Given the description of an element on the screen output the (x, y) to click on. 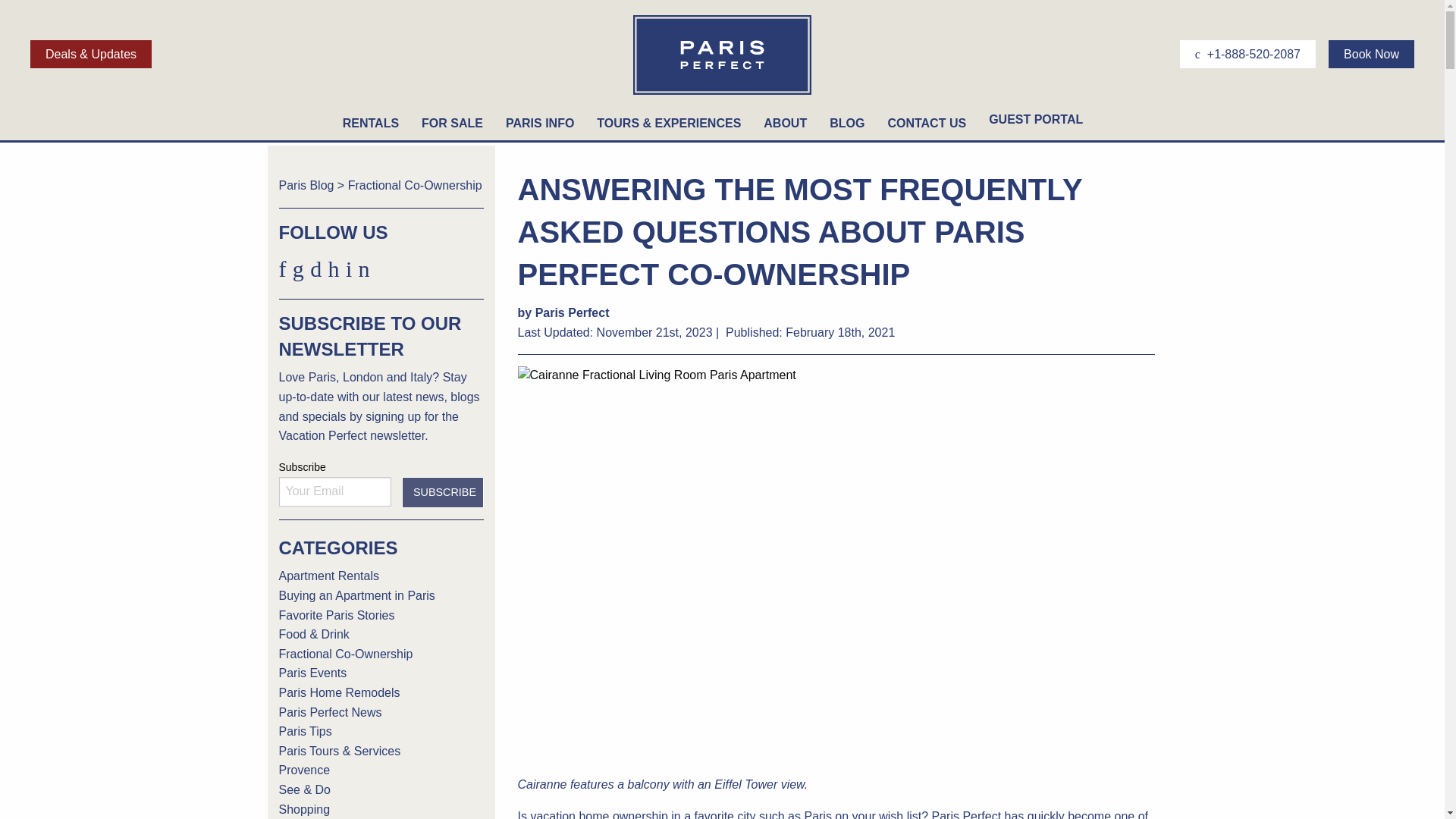
Book Now (1370, 53)
RENTALS (370, 122)
FOR SALE (452, 122)
Subscribe (442, 491)
Paris Vacation Rentals (721, 92)
PARIS INFO (540, 122)
Posts by Paris Perfect (572, 312)
